Given the description of an element on the screen output the (x, y) to click on. 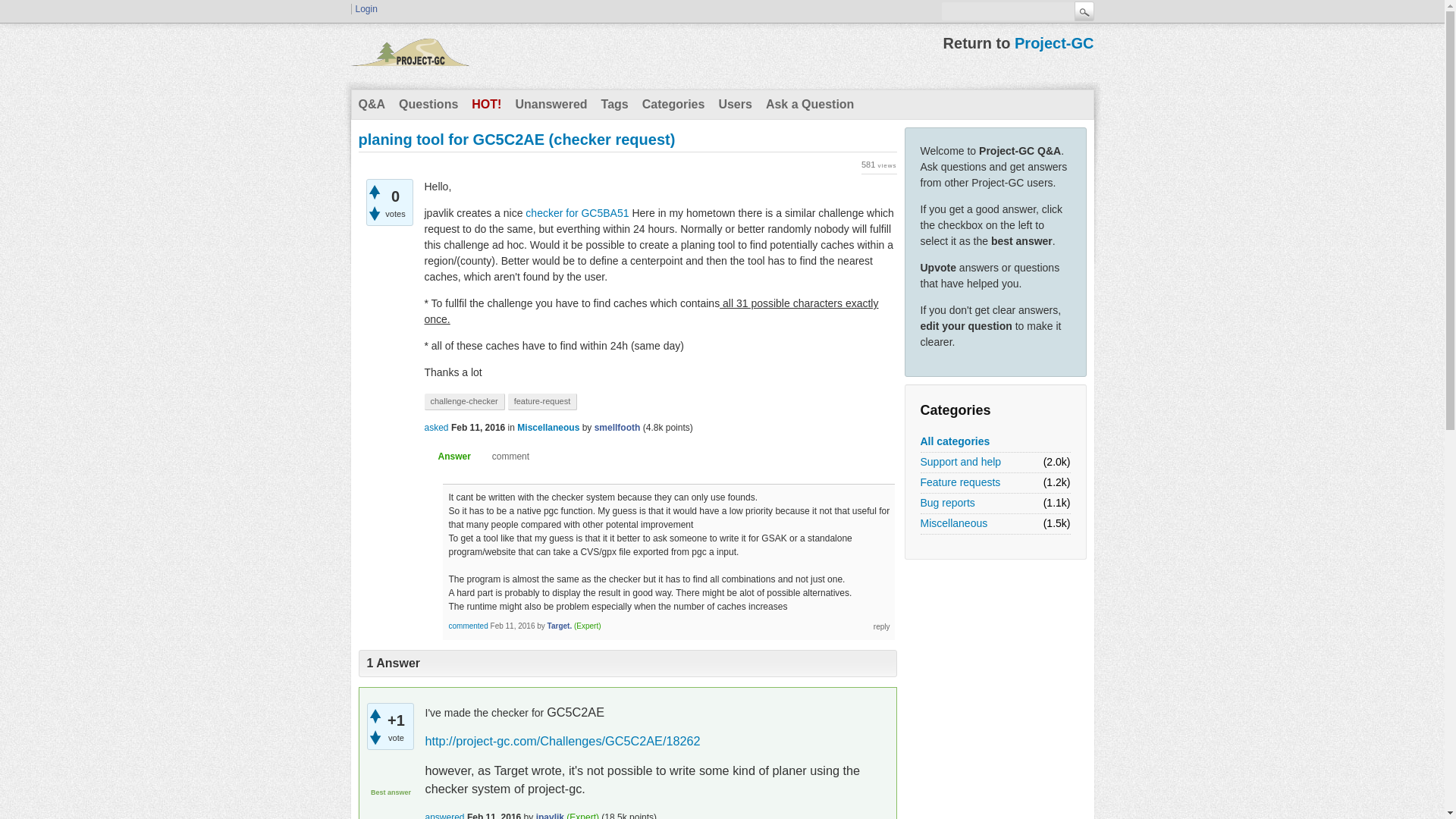
comment (504, 456)
reply (881, 625)
checker for GC5BA51 (576, 213)
asked (436, 427)
Add a comment on this question (504, 456)
Miscellaneous (954, 523)
Support and help (960, 462)
All categories (955, 441)
comment (504, 456)
Categories (672, 104)
